Given the description of an element on the screen output the (x, y) to click on. 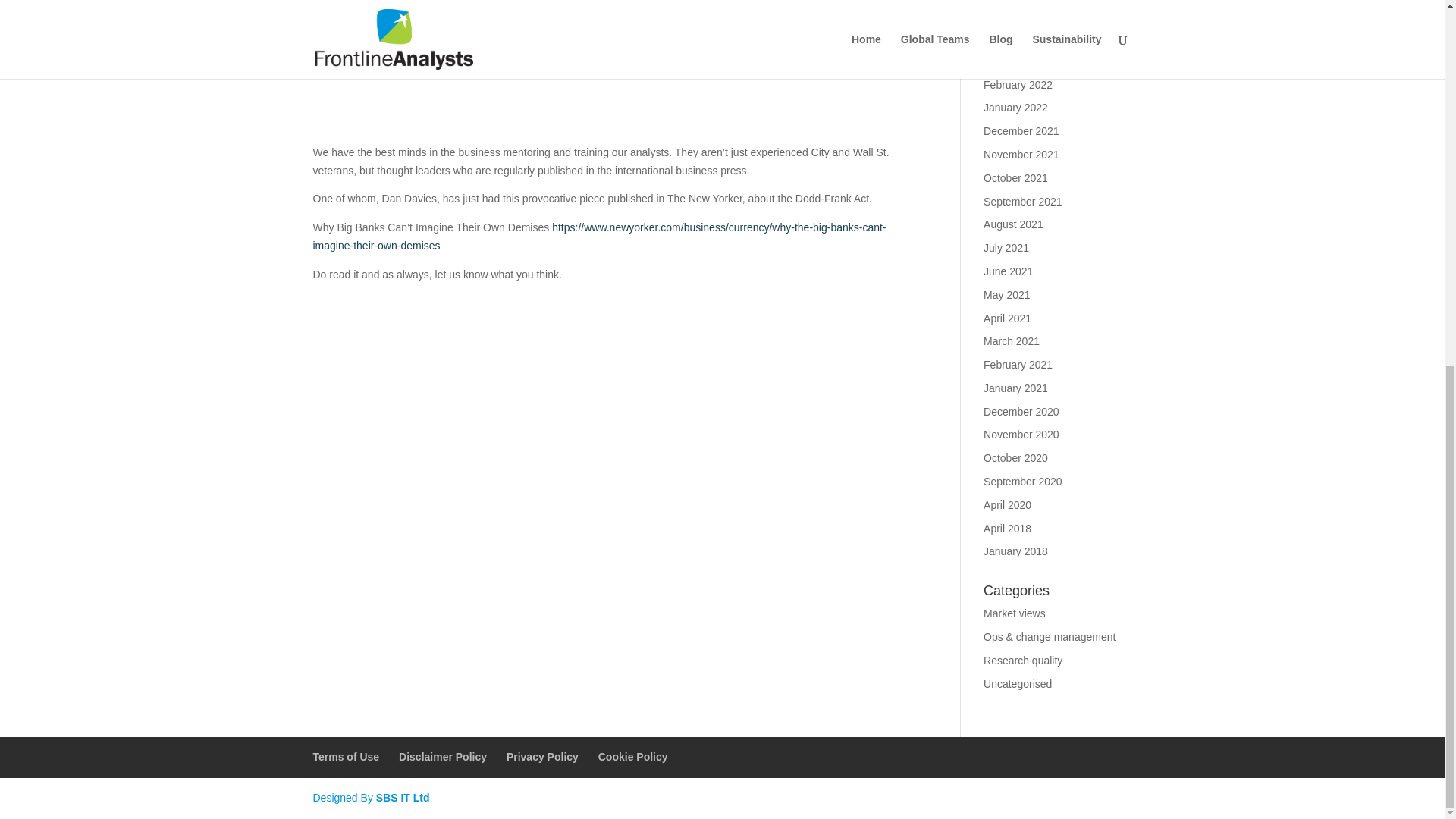
August 2021 (1013, 224)
May 2022 (1006, 14)
October 2021 (1016, 177)
December 2020 (1021, 411)
April 2022 (1007, 37)
March 2021 (1011, 340)
December 2021 (1021, 131)
September 2021 (1023, 201)
May 2021 (1006, 295)
March 2022 (1011, 61)
